Given the description of an element on the screen output the (x, y) to click on. 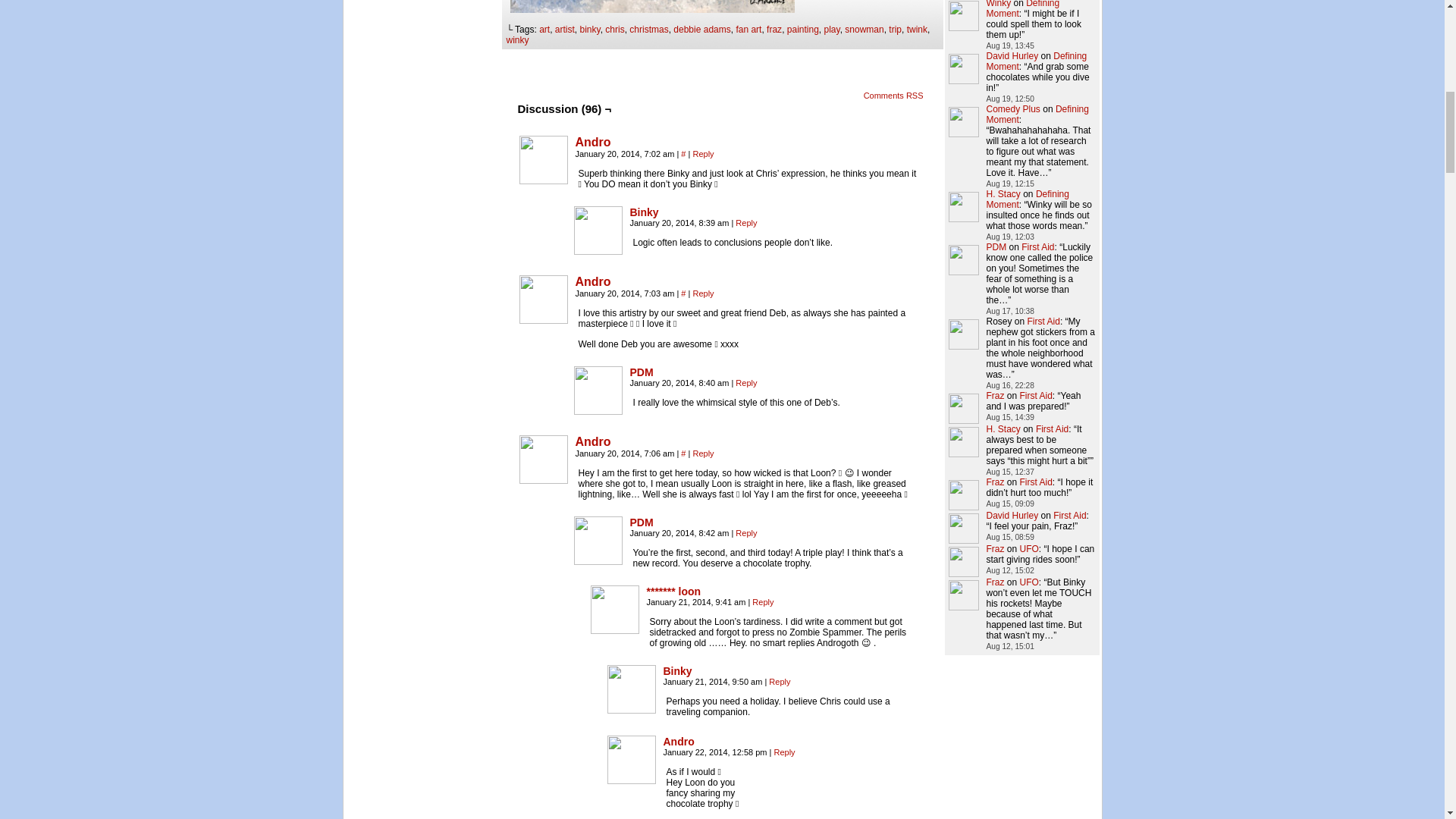
christmas (648, 29)
Andro (542, 159)
Andro (542, 180)
Monday, January 20th 2014, 7:02am (626, 153)
art (544, 29)
binky (589, 29)
debbie adams (701, 29)
artist (564, 29)
painting (802, 29)
fan art (748, 29)
